Given the description of an element on the screen output the (x, y) to click on. 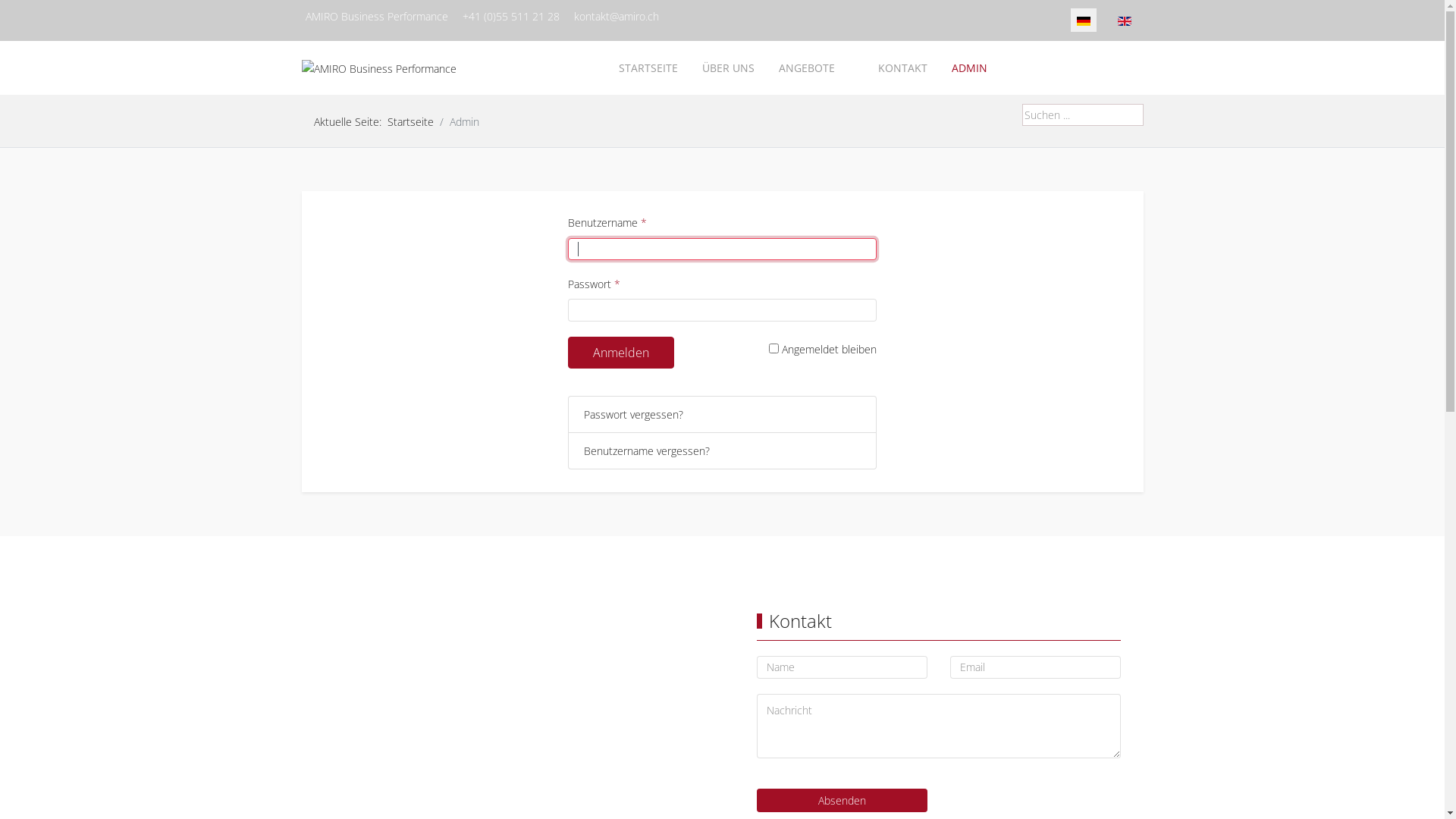
Passwort vergessen? Element type: text (633, 414)
KONTAKT Element type: text (902, 68)
English (United Kingdom) Element type: hover (1124, 20)
Detusch DE Element type: hover (1083, 20)
ANGEBOTE Element type: text (815, 68)
Benutzername vergessen? Element type: text (646, 450)
+41 (0)55 511 21 28 Element type: text (510, 16)
STARTSEITE Element type: text (648, 68)
ADMIN Element type: text (968, 68)
kontakt@amiro.ch Element type: text (615, 16)
Startseite Element type: text (409, 121)
Anmelden Element type: text (620, 352)
Absenden Element type: text (841, 800)
